Given the description of an element on the screen output the (x, y) to click on. 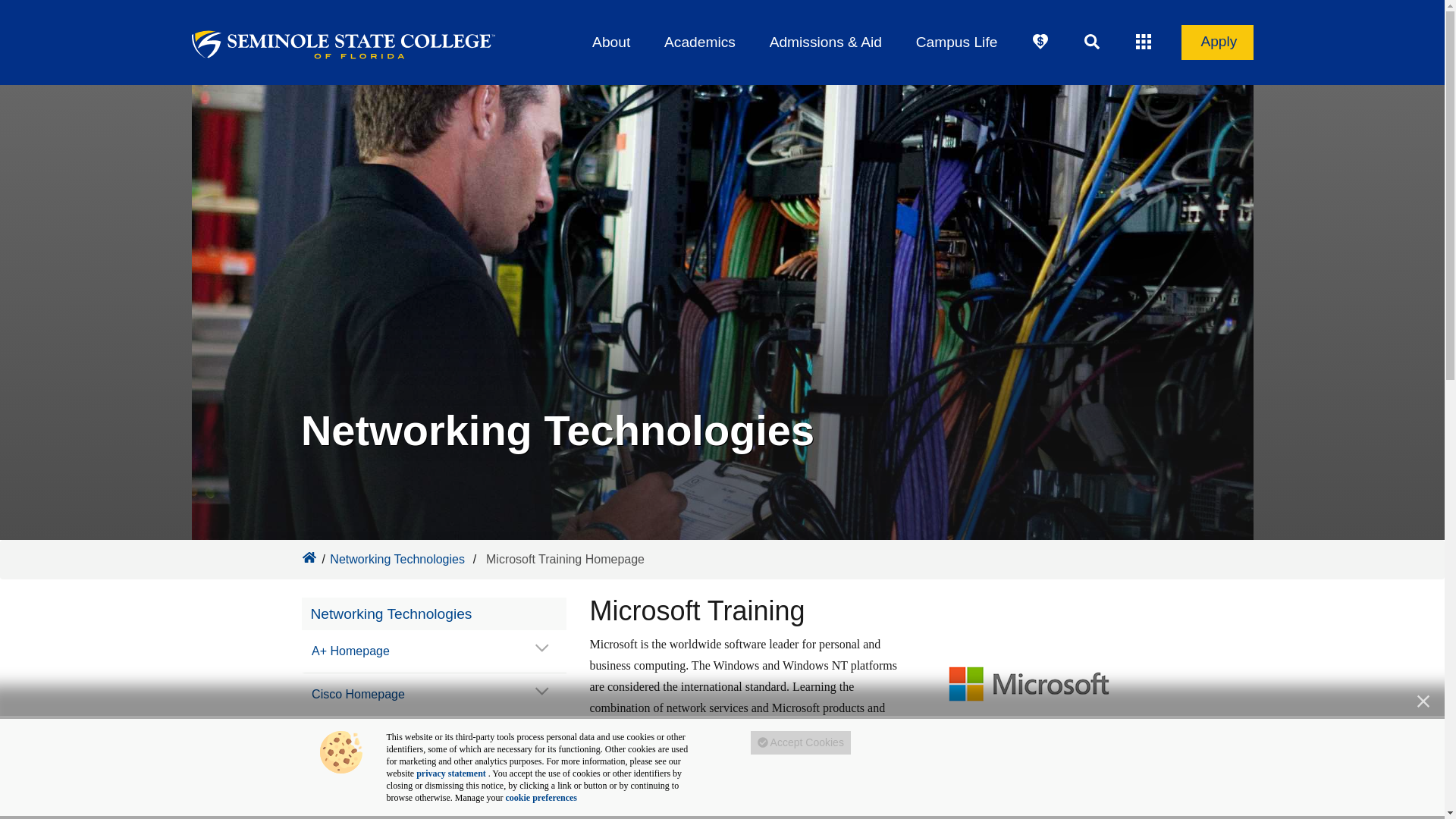
Apply (1216, 42)
My Apps (1143, 41)
Seminole State College Homepage (308, 557)
Campus Life (956, 42)
Give (1039, 41)
My Apps (1143, 41)
Academics (699, 42)
My Apps (1143, 41)
Search (1091, 41)
Search (1091, 41)
